Given the description of an element on the screen output the (x, y) to click on. 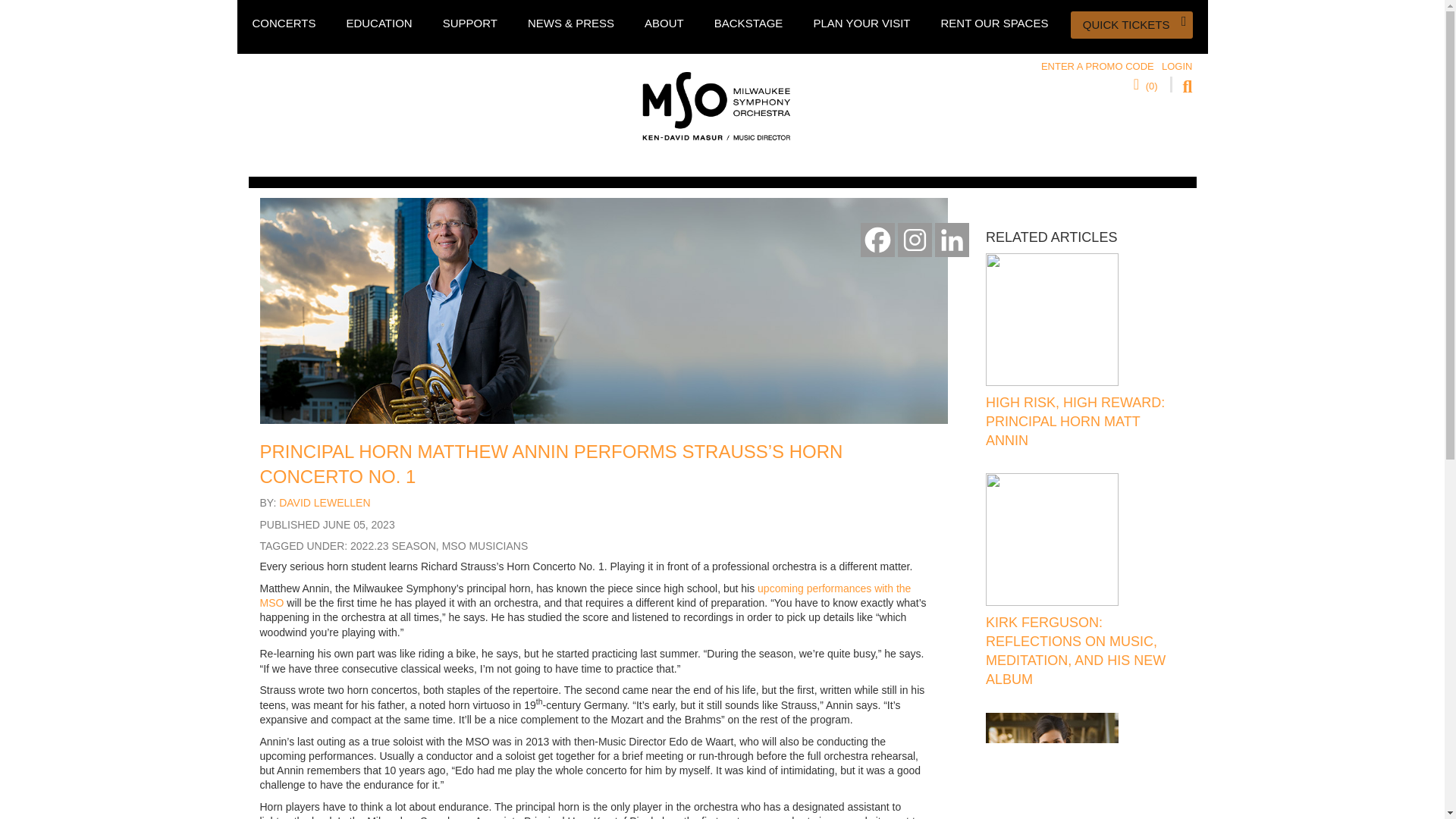
Facebook (877, 239)
CONCERTS (283, 22)
EDUCATION (379, 22)
Linkedin (951, 239)
Instagram (914, 239)
